Given the description of an element on the screen output the (x, y) to click on. 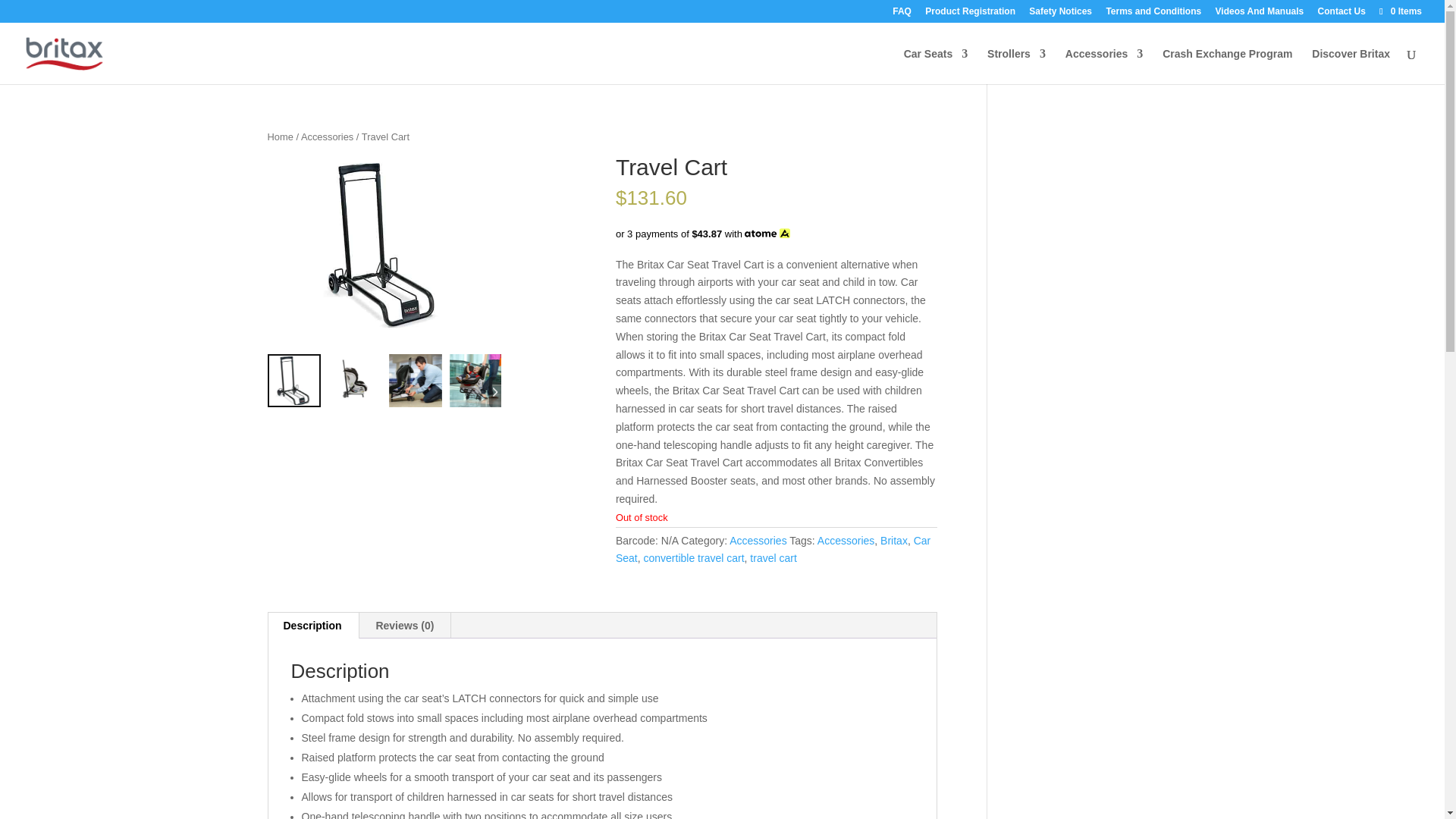
Contact Us (1341, 14)
travel-cart-rf-300rgb (293, 380)
Home (279, 136)
Videos And Manuals (1259, 14)
Safety Notices (1060, 14)
travel-cart-rf-300rgb (383, 244)
Terms and Conditions (1153, 14)
FAQ (901, 14)
travel-cart-r-300rgb (353, 380)
Car Seats (936, 66)
Discover Britax (1350, 66)
Strollers (1016, 66)
Accessories (1103, 66)
travel-cart-rebranded-overhead-bin-300rgb (149, 244)
Accessories (327, 136)
